Given the description of an element on the screen output the (x, y) to click on. 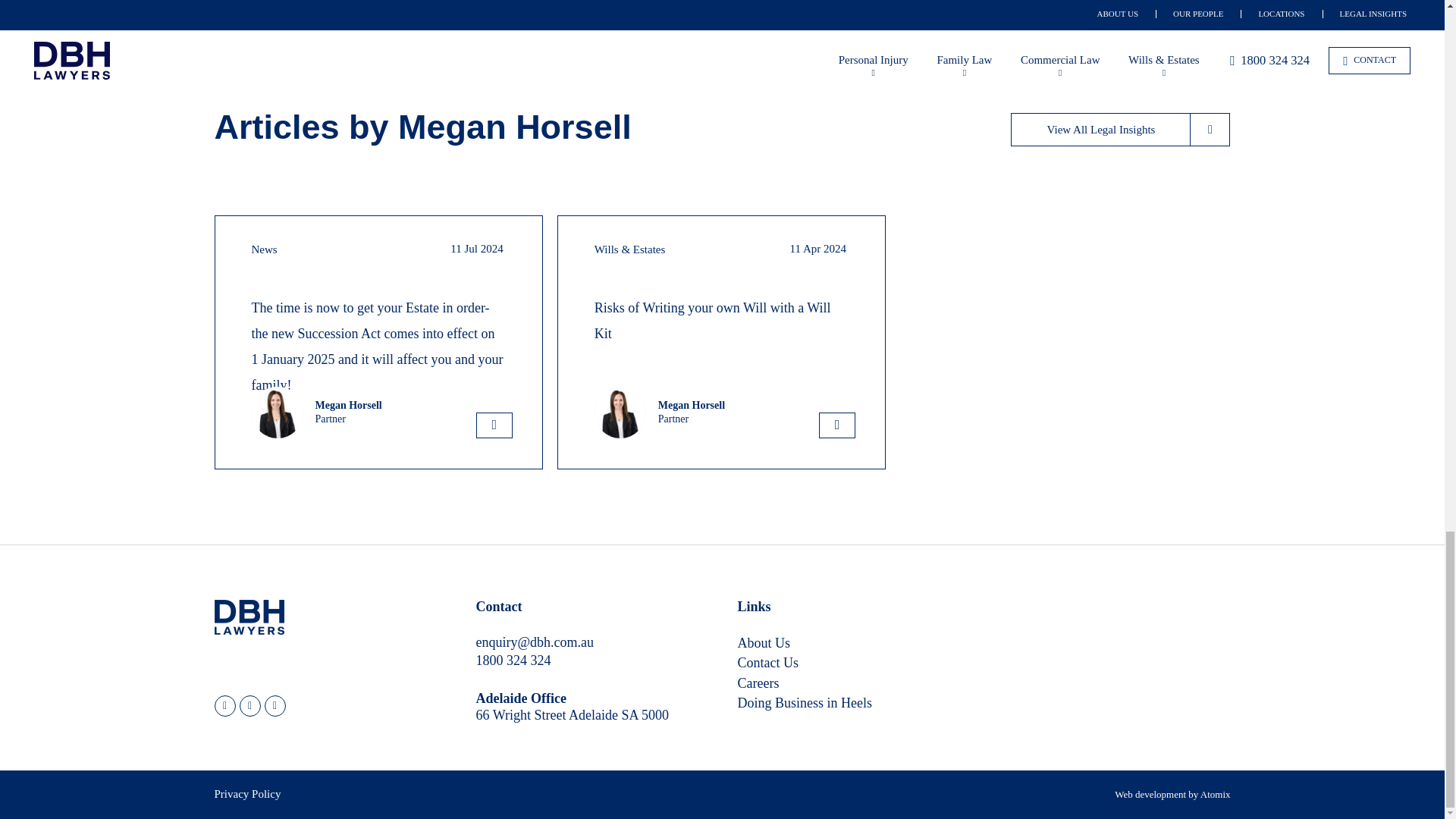
Web development by Atomix (1172, 794)
